Given the description of an element on the screen output the (x, y) to click on. 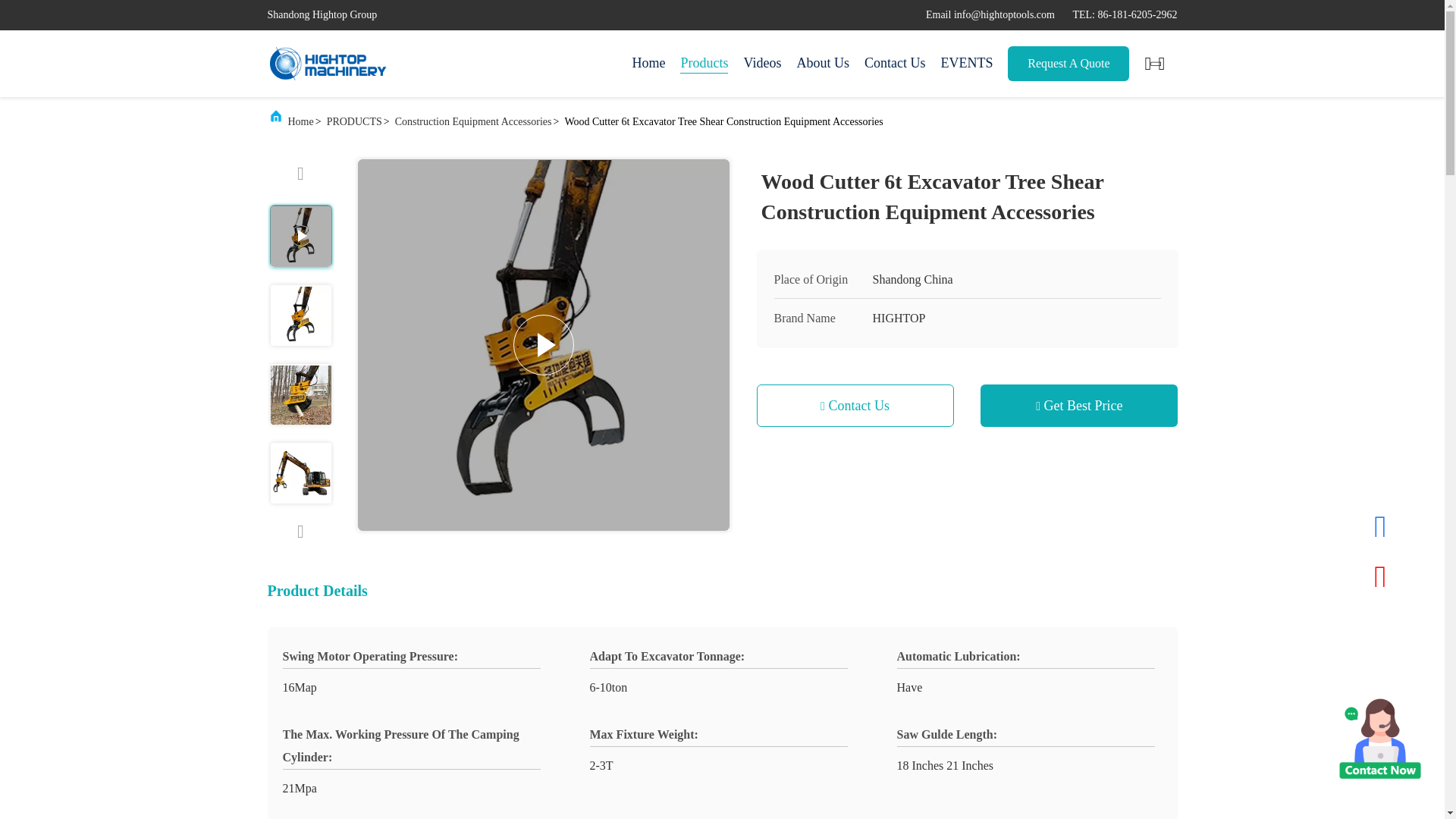
Request A Quote (1068, 63)
EVENTS (966, 63)
Products (703, 63)
Contact Us (895, 63)
About Us (822, 63)
Home (648, 63)
Videos (761, 63)
Home (327, 63)
email (990, 14)
